Given the description of an element on the screen output the (x, y) to click on. 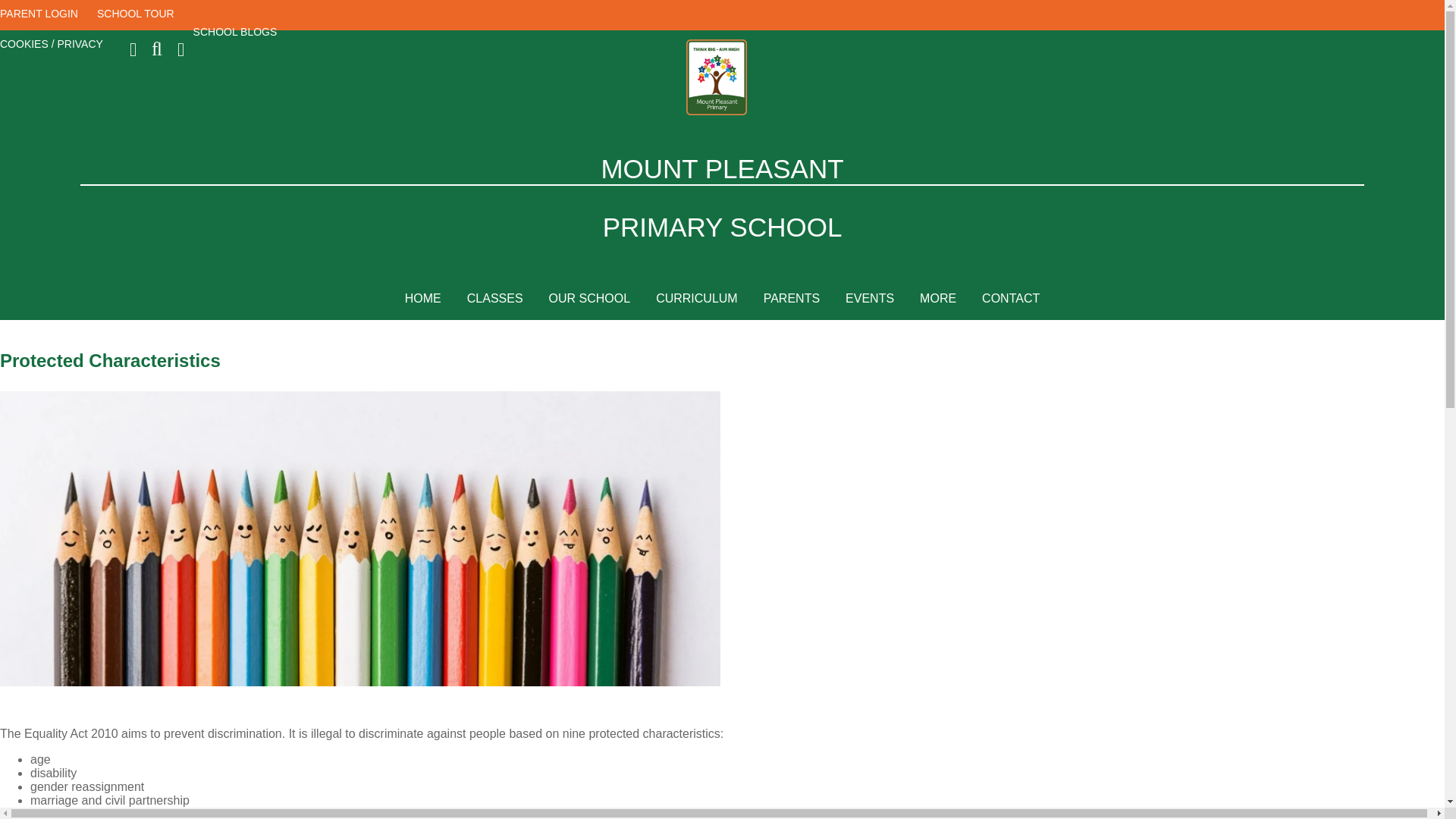
PARENT LOGIN (42, 22)
HOME (422, 298)
OUR SCHOOL (589, 298)
CLASSES (494, 298)
SCHOOL BLOGS (239, 31)
SCHOOL TOUR (139, 22)
